Given the description of an element on the screen output the (x, y) to click on. 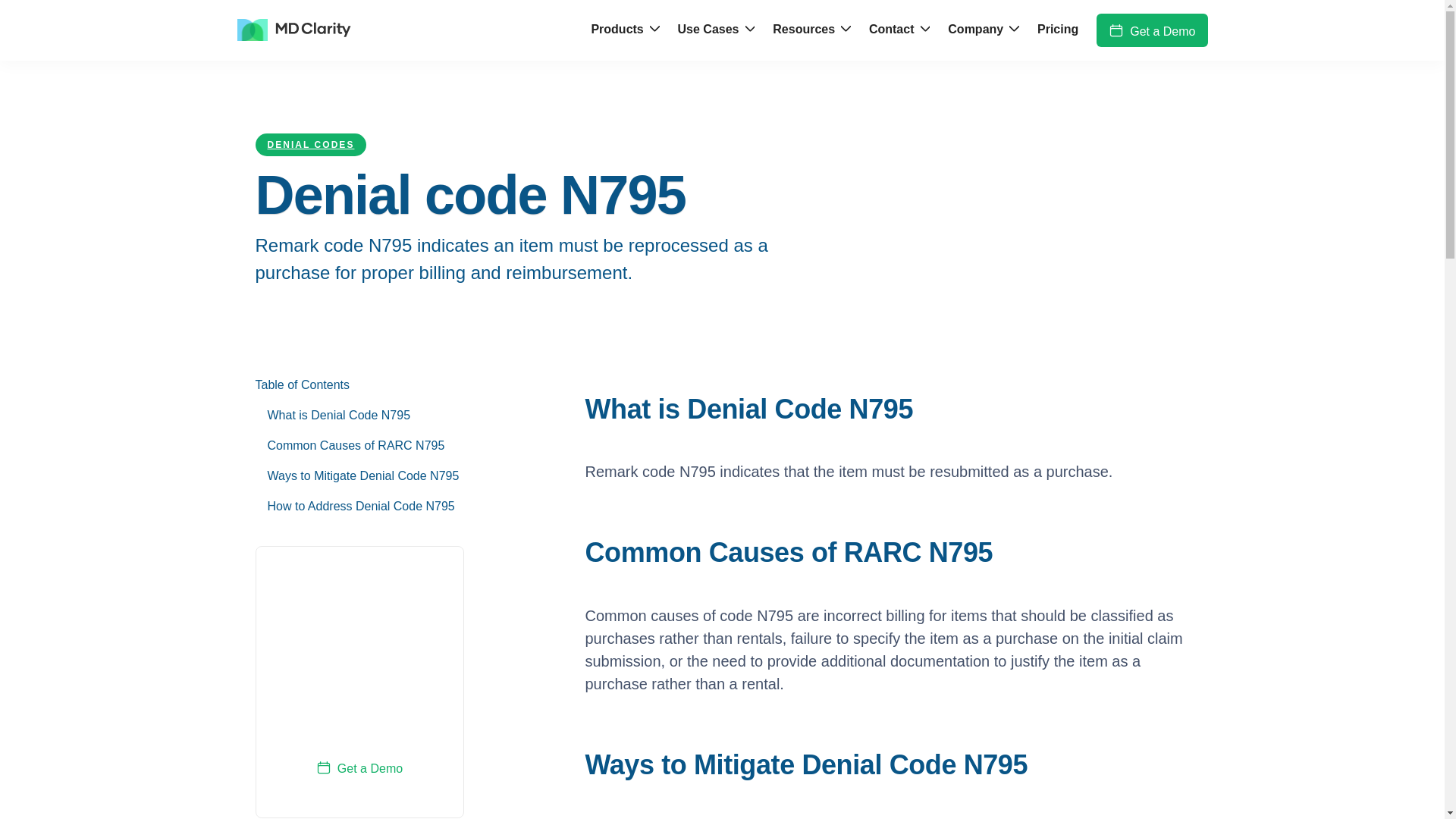
What is Denial Code N795 (362, 415)
Get a Demo (1151, 29)
How to Address Denial Code N795 (362, 506)
Pricing (1057, 29)
Common Causes of RARC N795 (362, 445)
Get a Demo (360, 767)
DENIAL CODES (310, 144)
Ways to Mitigate Denial Code N795 (362, 475)
